Given the description of an element on the screen output the (x, y) to click on. 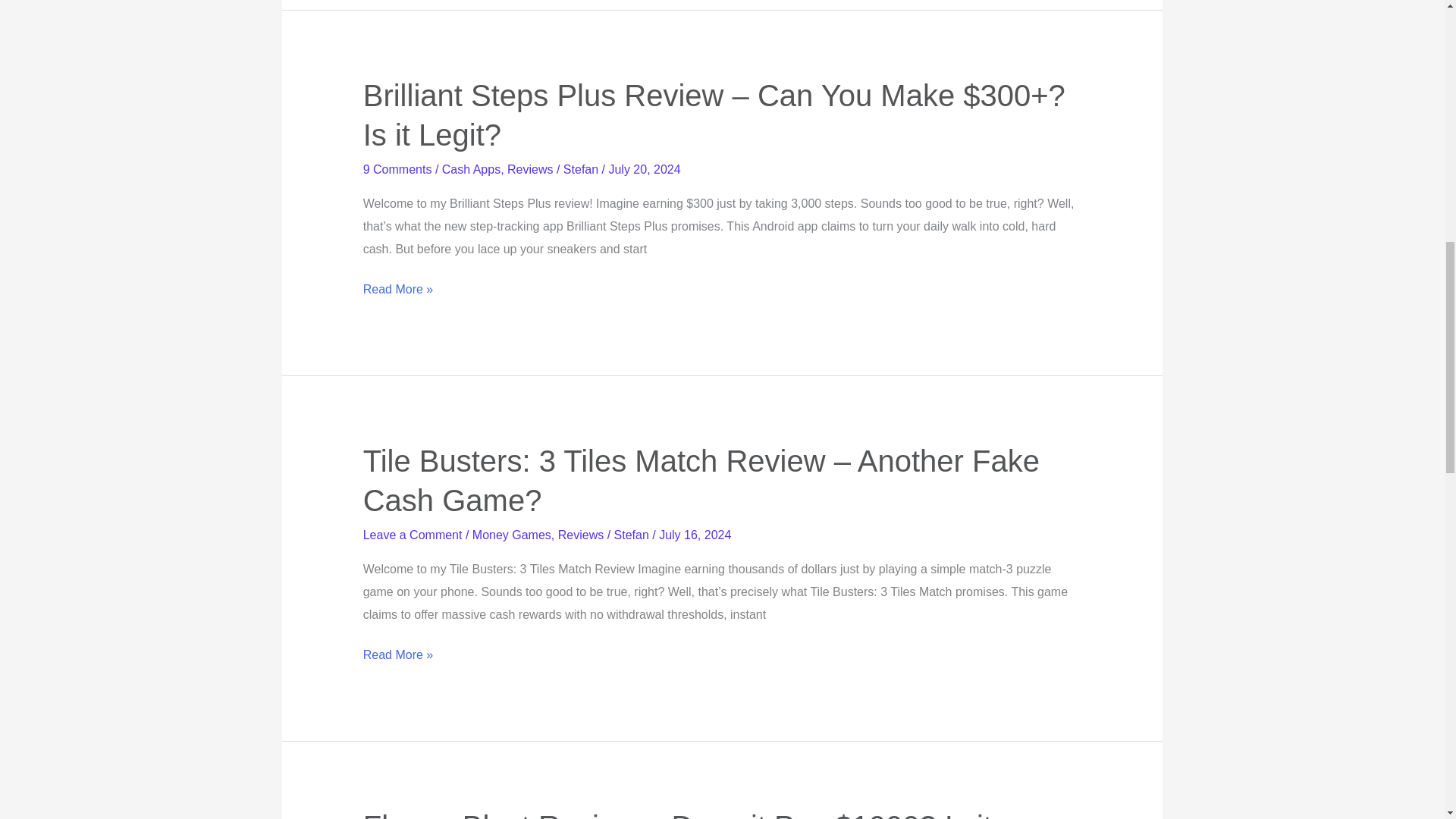
9 Comments (397, 169)
Reviews (529, 169)
Money Games (511, 534)
Stefan (582, 169)
Reviews (580, 534)
Cash Apps (471, 169)
Stefan (633, 534)
View all posts by Stefan (582, 169)
Leave a Comment (412, 534)
View all posts by Stefan (633, 534)
